Given the description of an element on the screen output the (x, y) to click on. 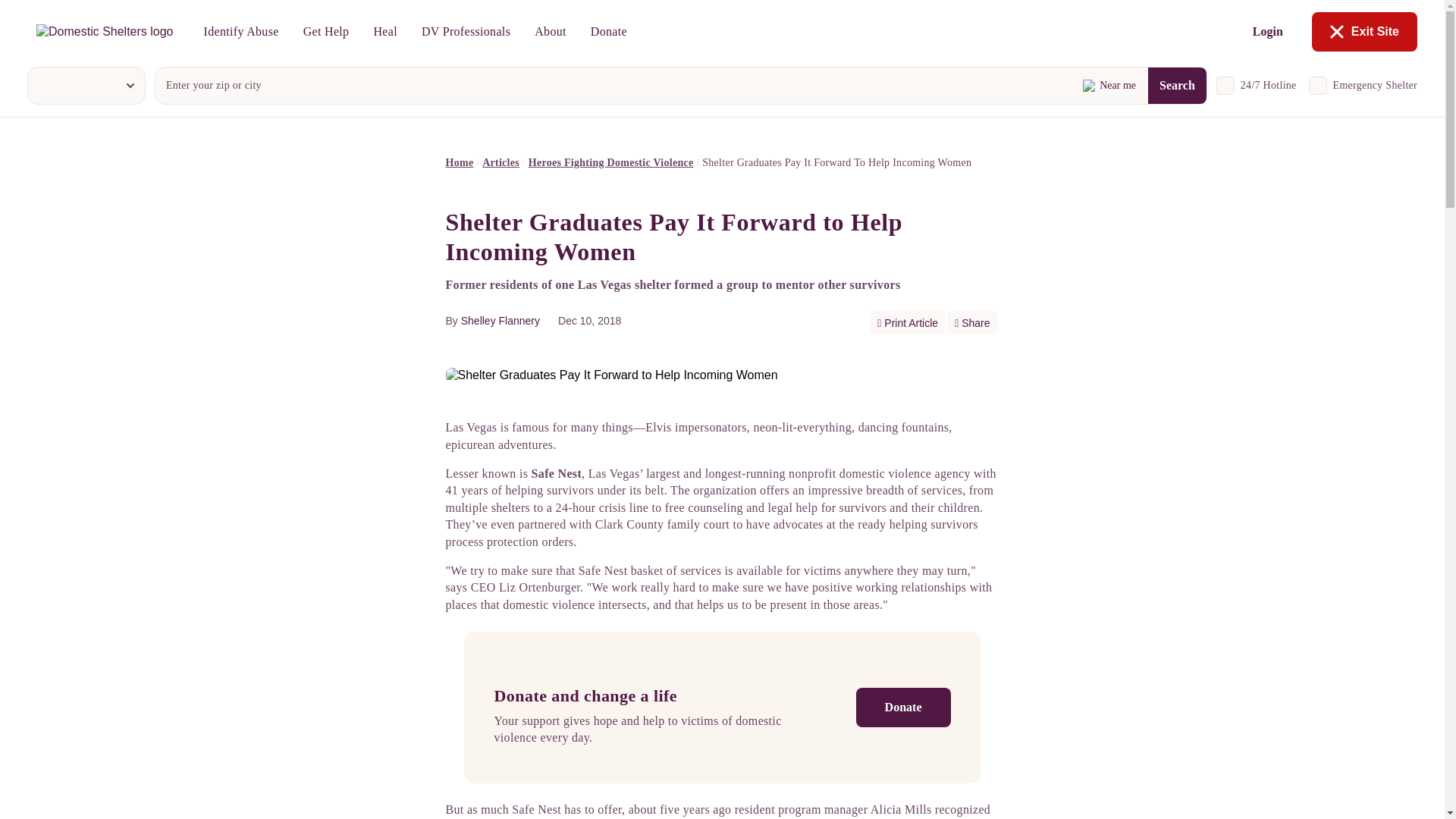
on (1317, 85)
on (1224, 85)
